Given the description of an element on the screen output the (x, y) to click on. 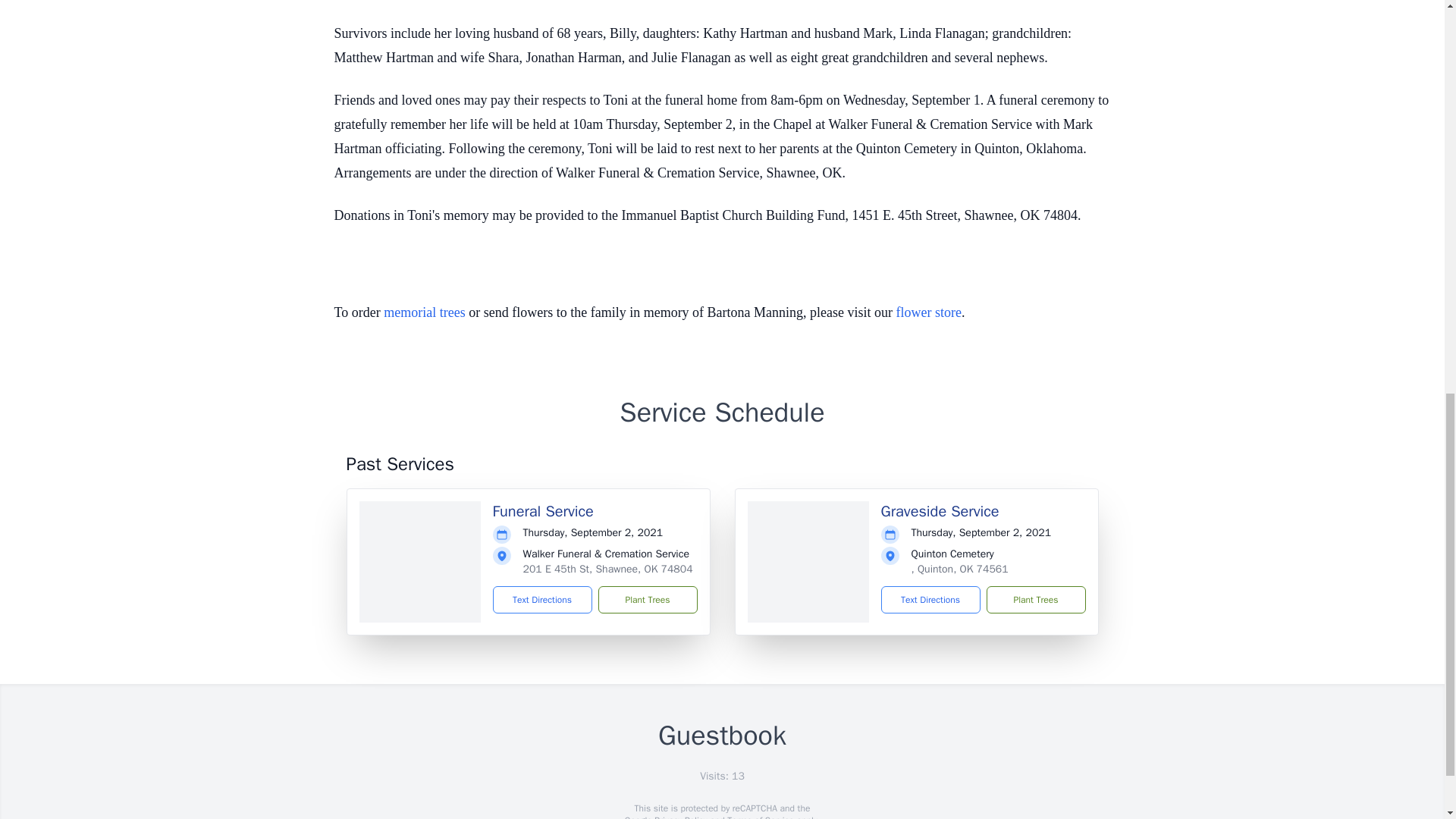
, Quinton, OK 74561 (960, 568)
Terms of Service (759, 816)
memorial trees (424, 312)
Privacy Policy (679, 816)
201 E 45th St, Shawnee, OK 74804 (607, 568)
Plant Trees (646, 599)
Plant Trees (1034, 599)
Text Directions (542, 599)
Text Directions (929, 599)
flower store (928, 312)
